Given the description of an element on the screen output the (x, y) to click on. 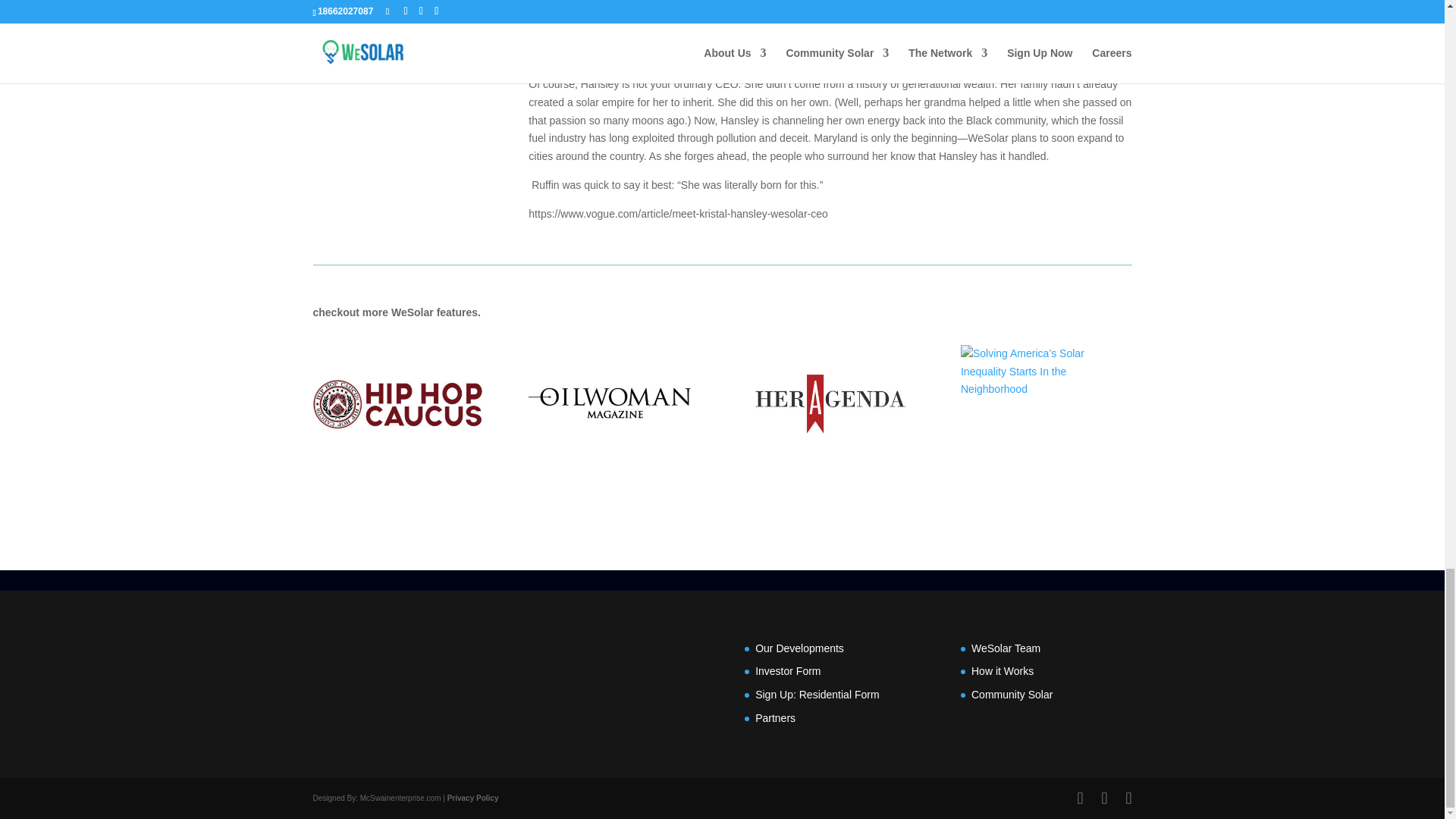
Community Solar (1011, 694)
WeSolar Team (1006, 648)
Privacy Policy (472, 797)
Investor Form (788, 671)
Sign Up: Residential Form (817, 694)
Our Developments (799, 648)
How it Works (1002, 671)
Partners (774, 717)
